Given the description of an element on the screen output the (x, y) to click on. 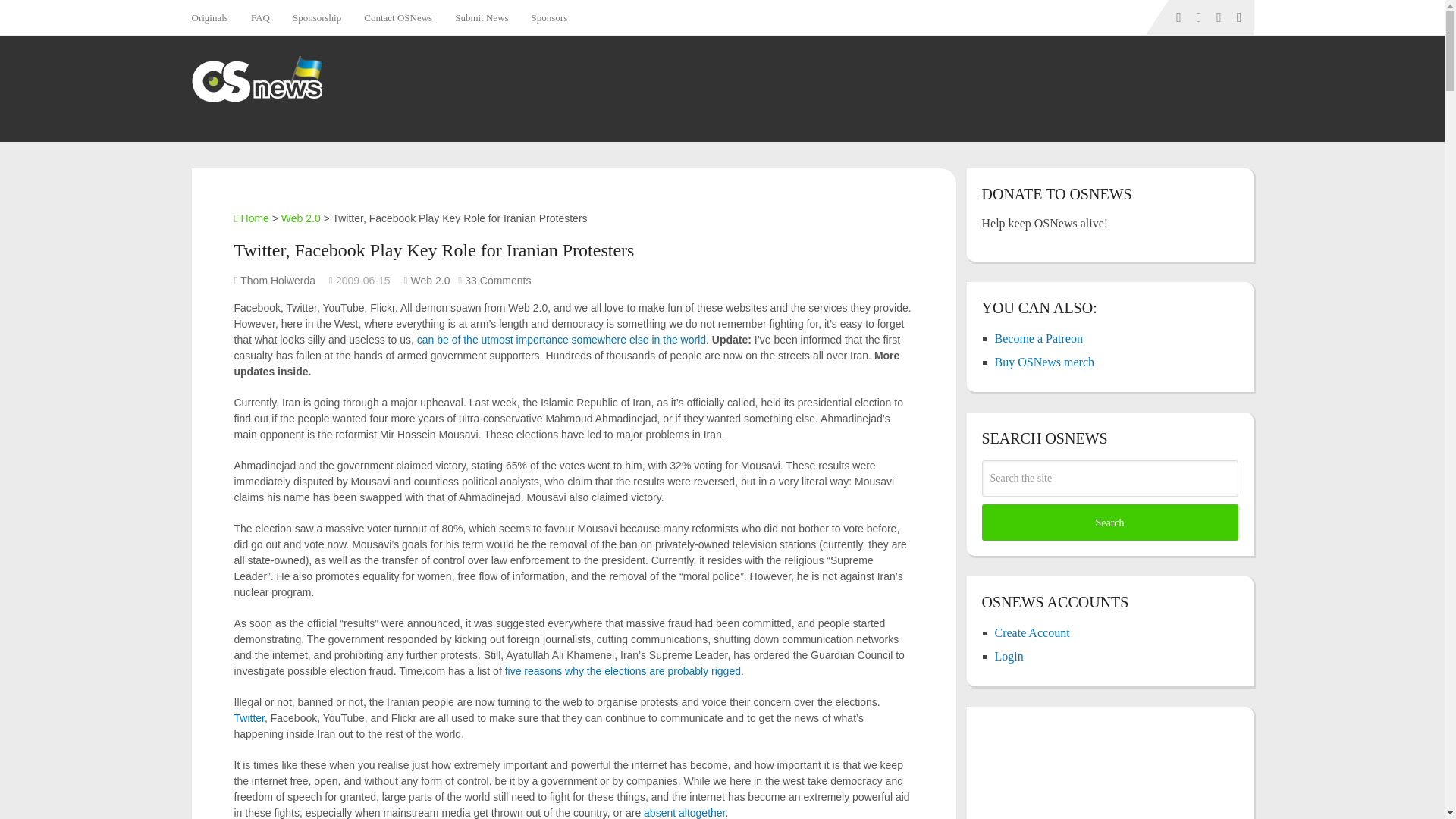
Originals (214, 17)
five reasons why the elections are probably rigged (623, 671)
Sponsors (549, 17)
33 Comments (497, 280)
View all posts in Web 2.0 (429, 280)
Posts by Thom Holwerda (277, 280)
Web 2.0 (429, 280)
Contact OSNews (398, 17)
Sponsorship (316, 17)
can be of the utmost importance somewhere else in the world (561, 339)
